Given the description of an element on the screen output the (x, y) to click on. 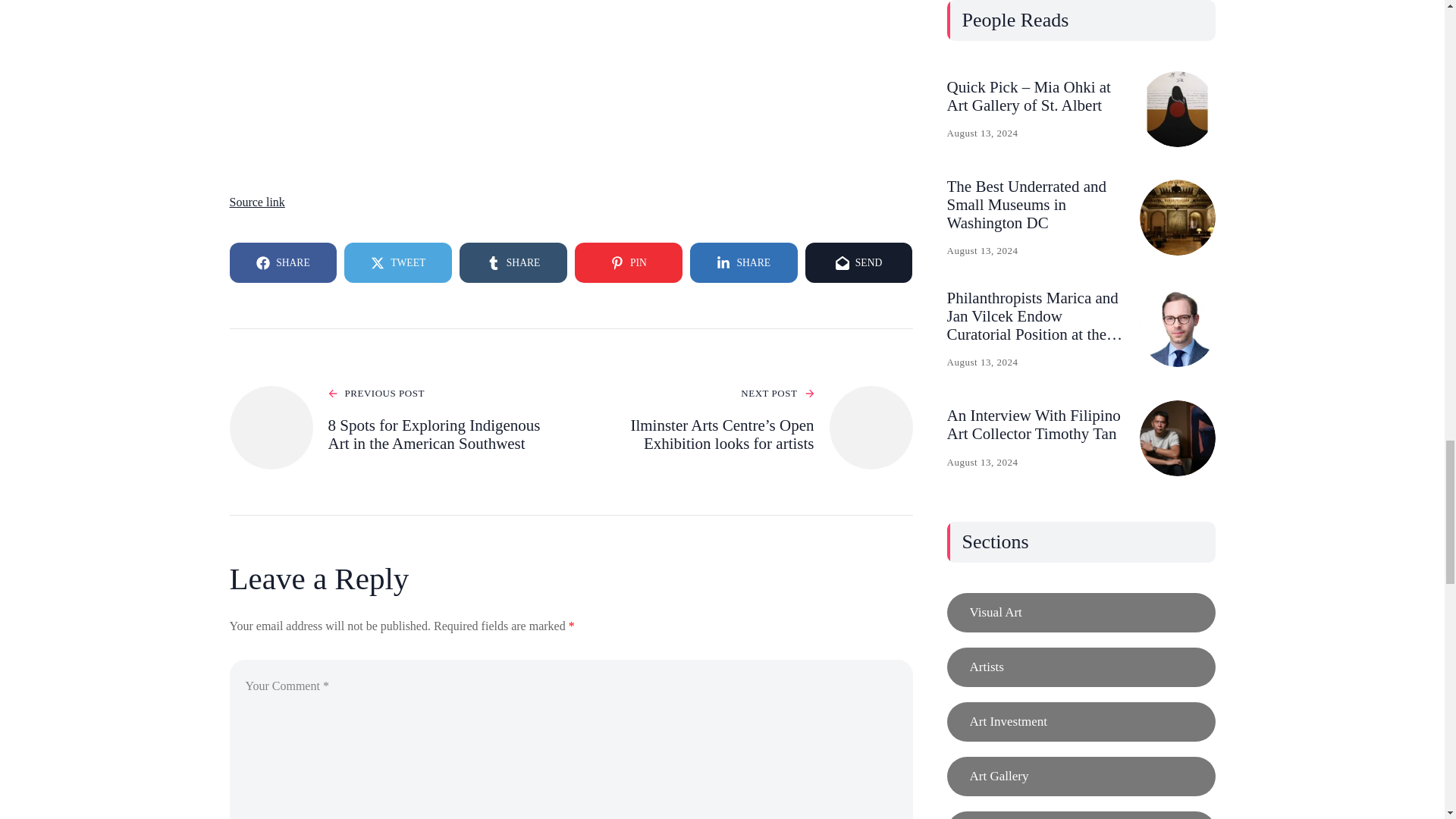
SHARE (513, 262)
PIN (628, 262)
SHARE (282, 262)
SHARE (743, 262)
SEND (858, 262)
Source link (255, 201)
TWEET (397, 262)
